Given the description of an element on the screen output the (x, y) to click on. 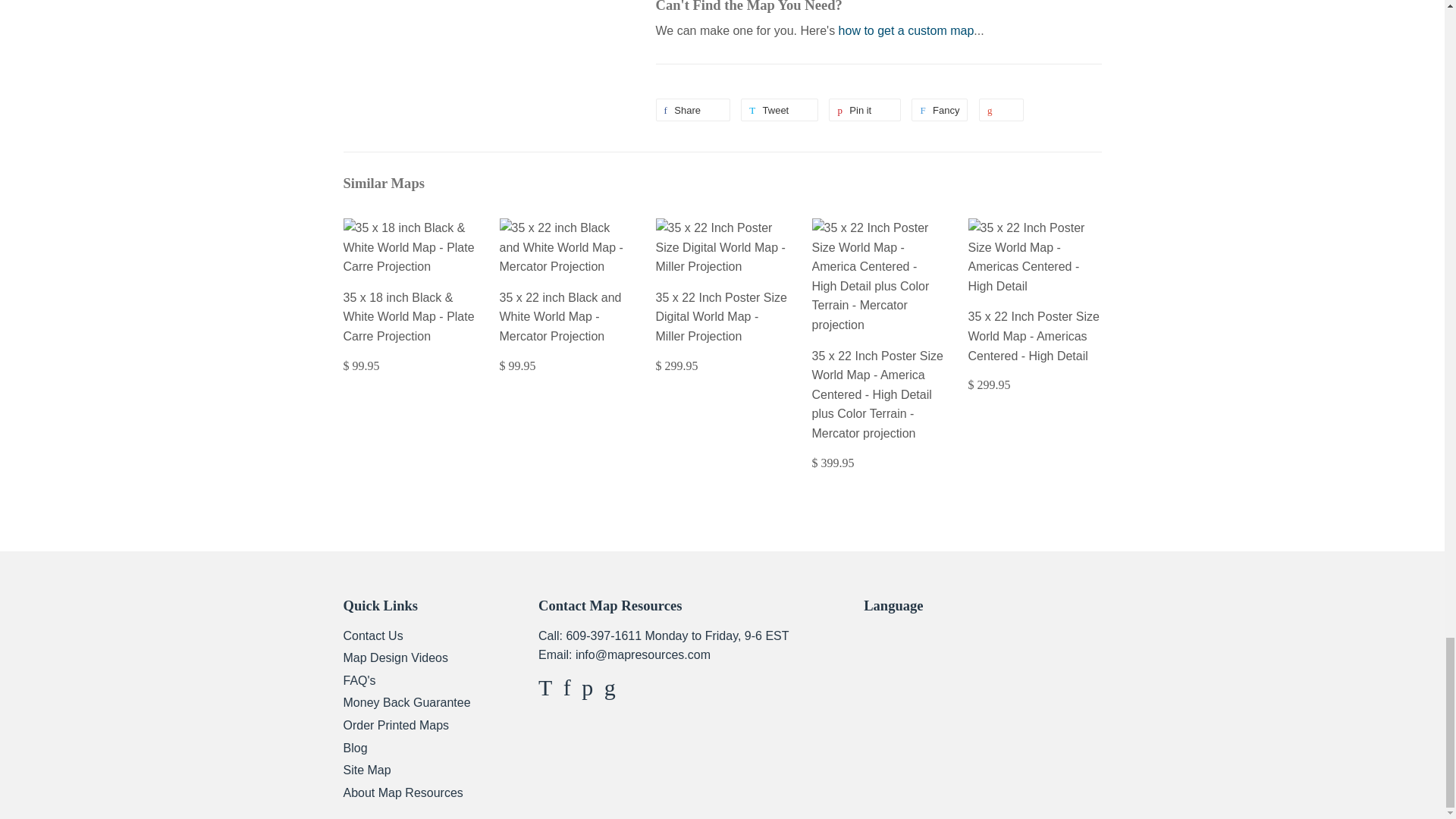
Map Resources on Facebook (566, 690)
Map Resources on Twitter (544, 690)
Map Resources on Pinterest (586, 690)
Map Resources on Google (609, 690)
